Given the description of an element on the screen output the (x, y) to click on. 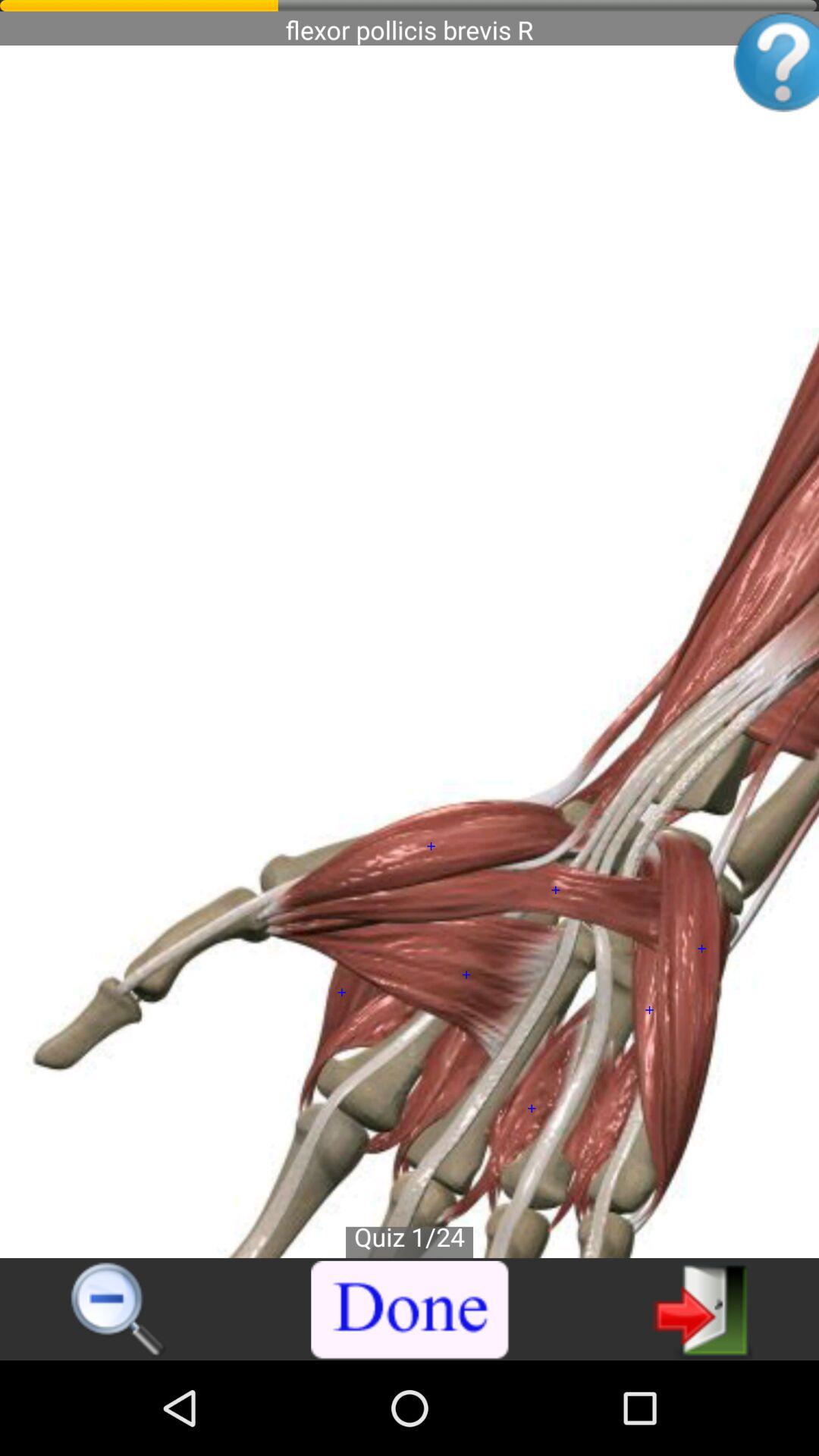
finish viewing (410, 1310)
